Given the description of an element on the screen output the (x, y) to click on. 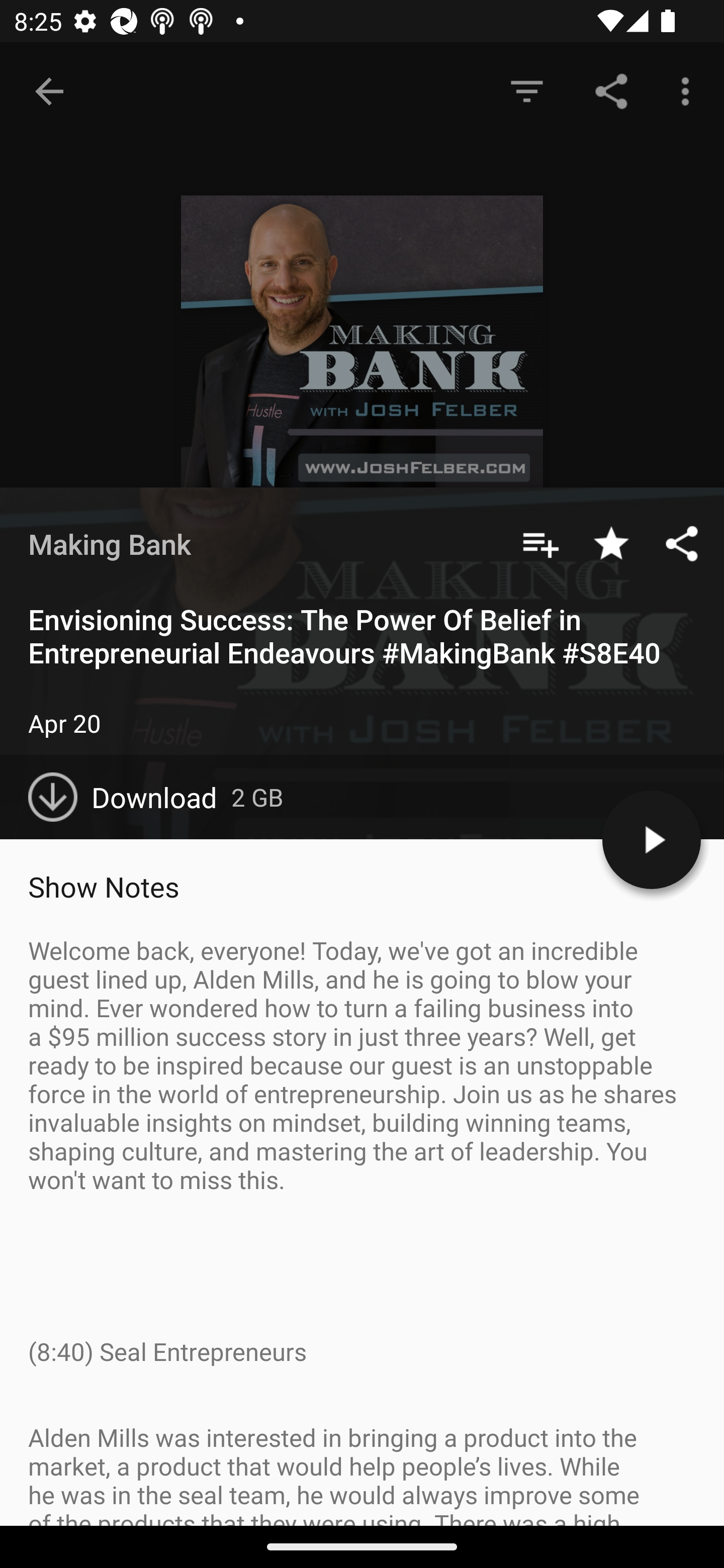
Download (129, 797)
